Given the description of an element on the screen output the (x, y) to click on. 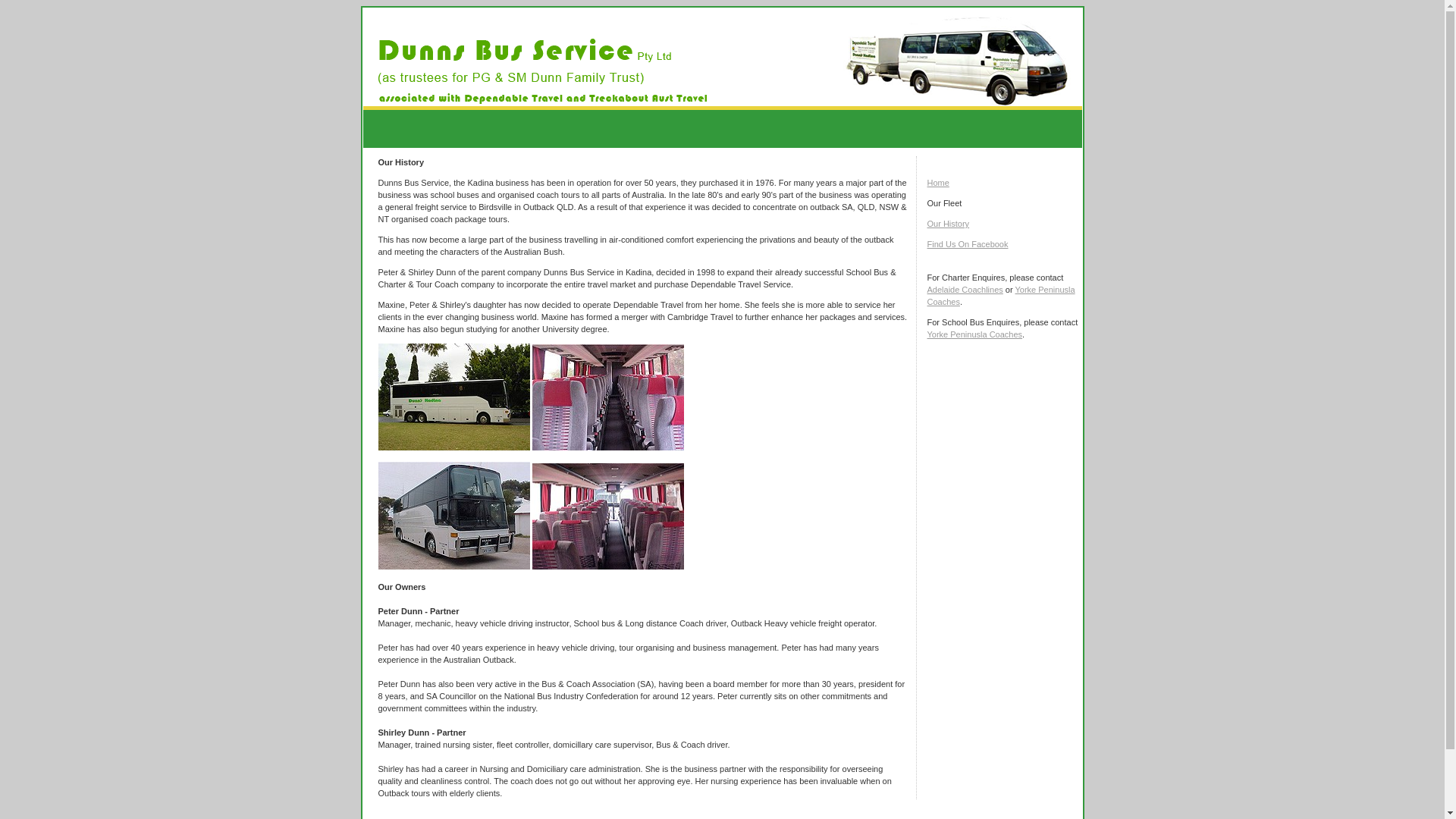
Yorke Peninusla Coaches Element type: text (1000, 295)
Home Element type: text (937, 182)
Find Us On Facebook Element type: text (966, 243)
Adelaide Coachlines Element type: text (964, 289)
Yorke Peninusla Coaches Element type: text (974, 333)
Our History Element type: text (947, 223)
